Given the description of an element on the screen output the (x, y) to click on. 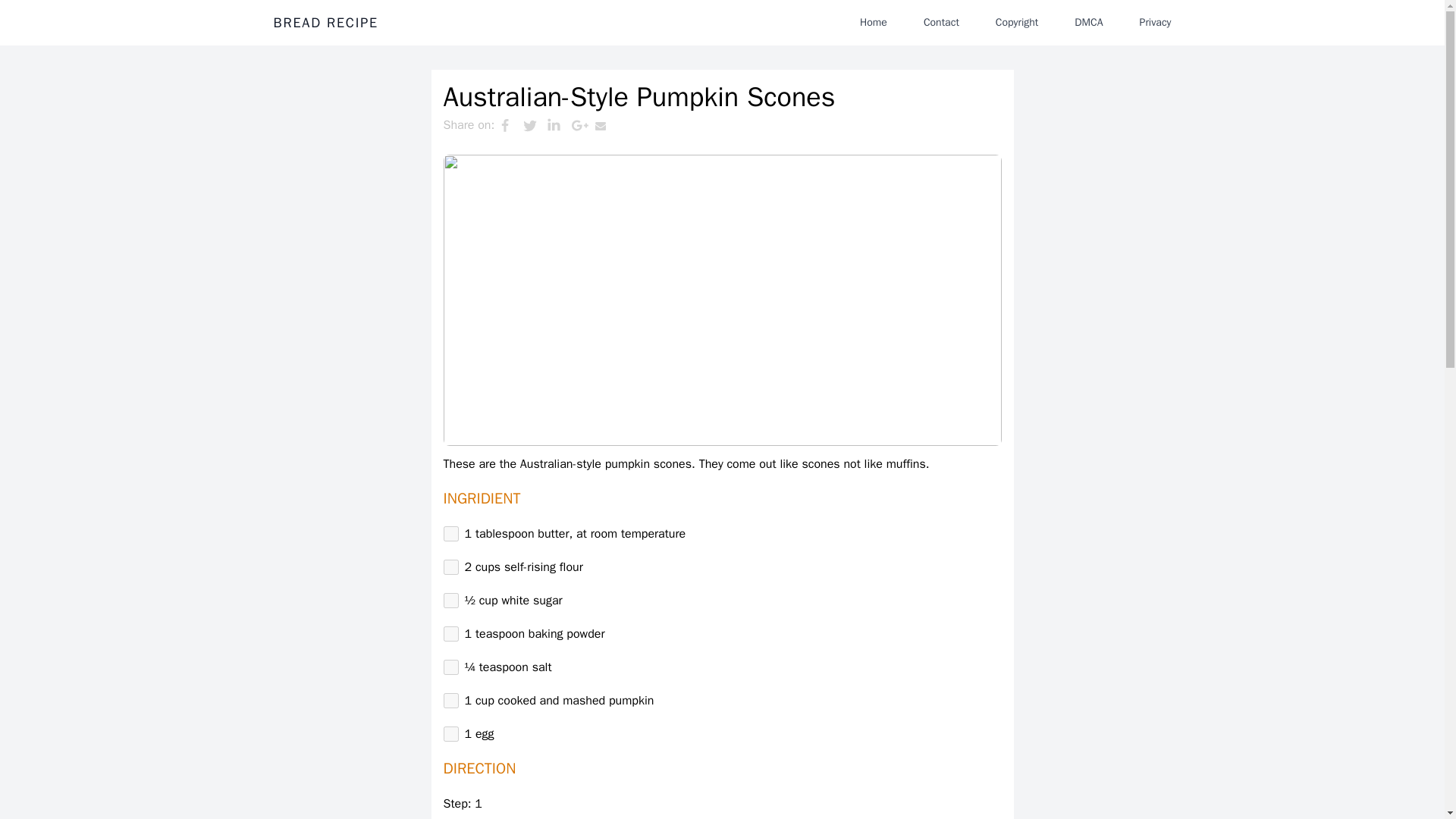
on (450, 600)
on (450, 633)
on (450, 667)
Privacy (1154, 22)
BREAD RECIPE (325, 22)
Share this on Google Plus (582, 125)
on (450, 700)
Home (873, 22)
on (450, 734)
Contact (941, 22)
Share this on Linkedin (558, 125)
Share this on Twitter (534, 125)
DMCA (1088, 22)
on (450, 533)
Share this through Email (607, 125)
